Given the description of an element on the screen output the (x, y) to click on. 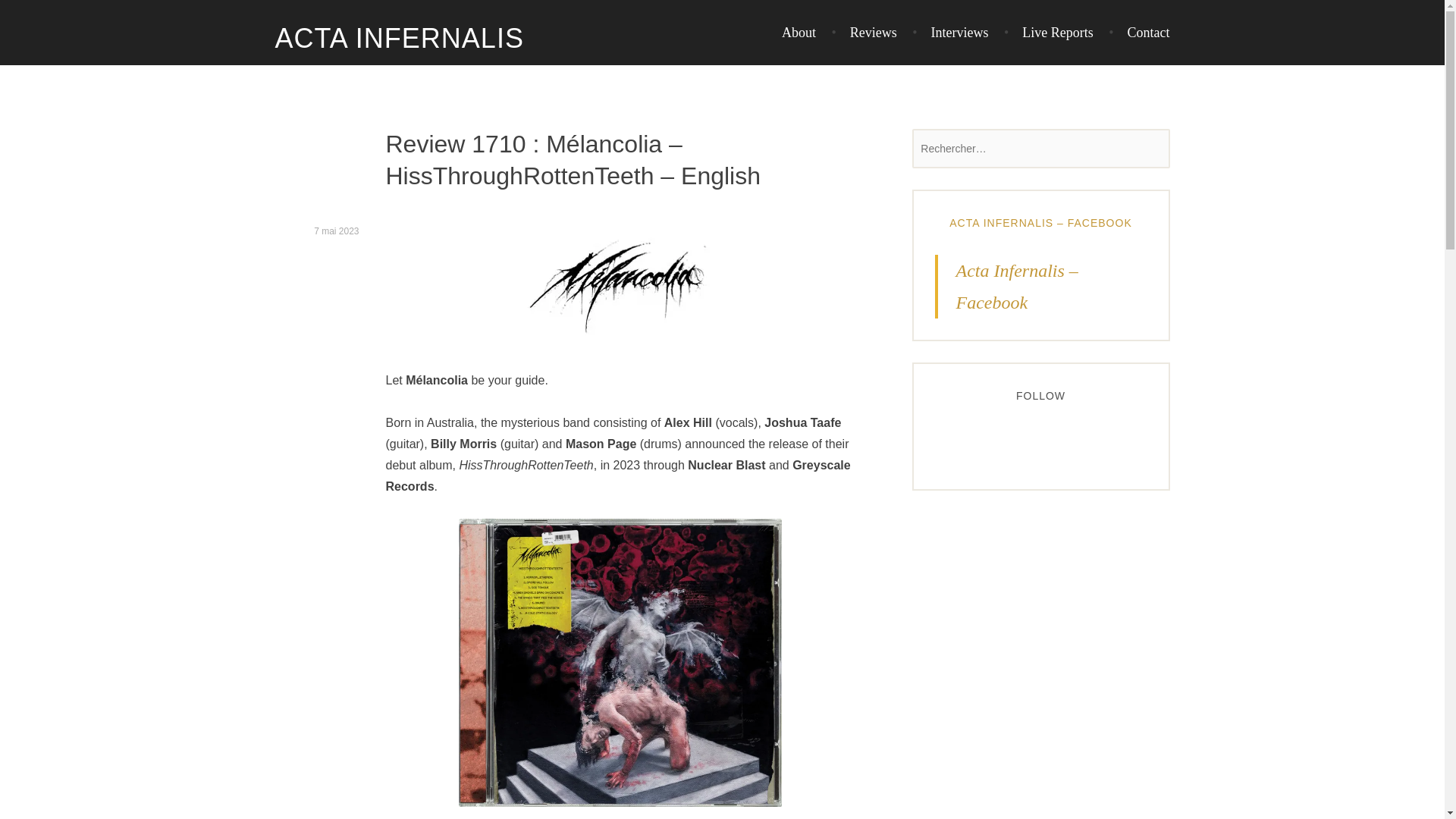
Twitter (1000, 439)
Interviews (950, 32)
Contact (1138, 32)
Live Reports (1048, 32)
Rechercher (48, 15)
Facebook (946, 439)
ACTA INFERNALIS (398, 38)
About (798, 32)
Instagram (972, 439)
7 mai 2023 (336, 231)
